Given the description of an element on the screen output the (x, y) to click on. 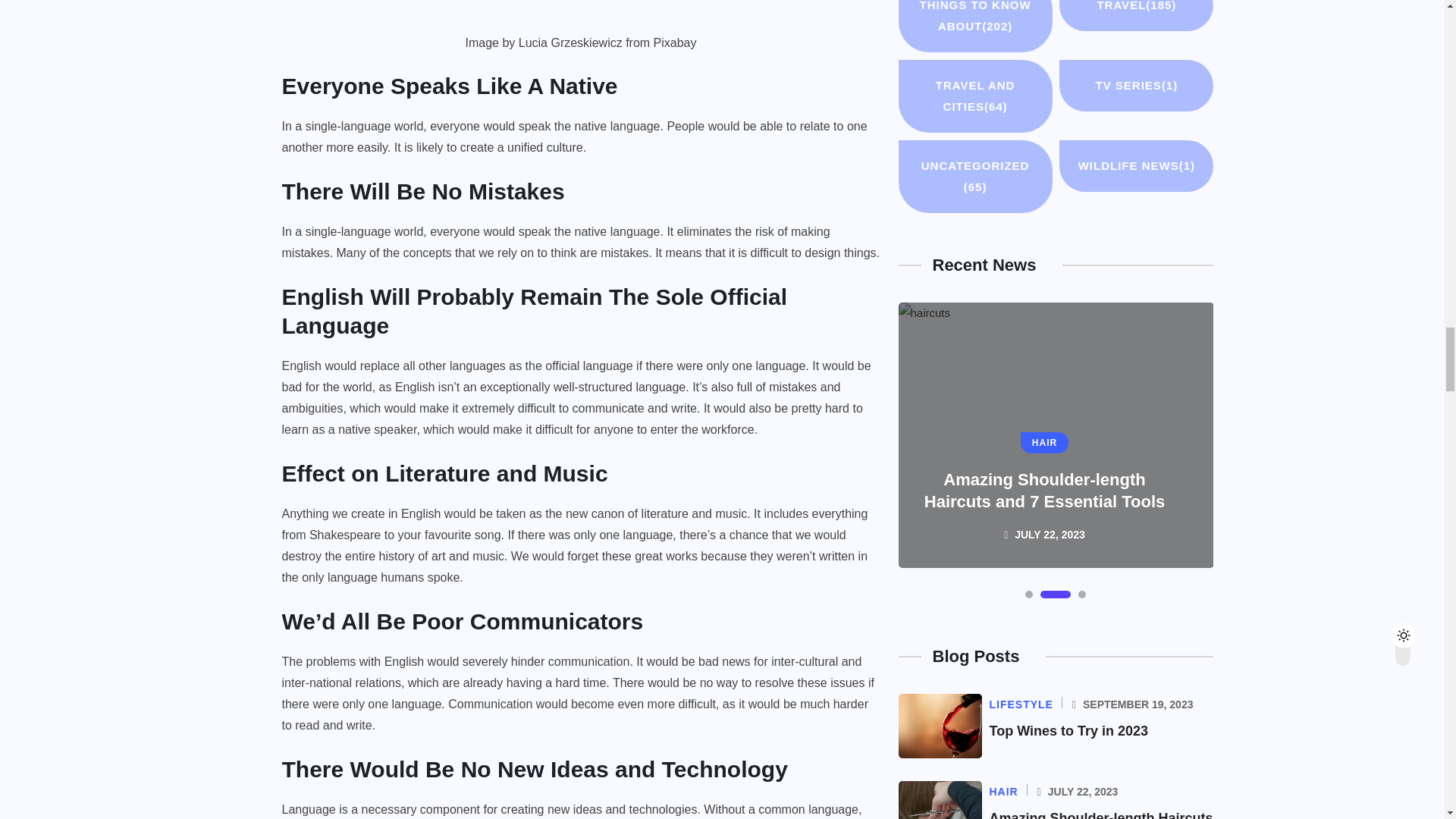
Amazing Shoulder-length Haircuts and 7 Essential Tools (1100, 814)
